Given the description of an element on the screen output the (x, y) to click on. 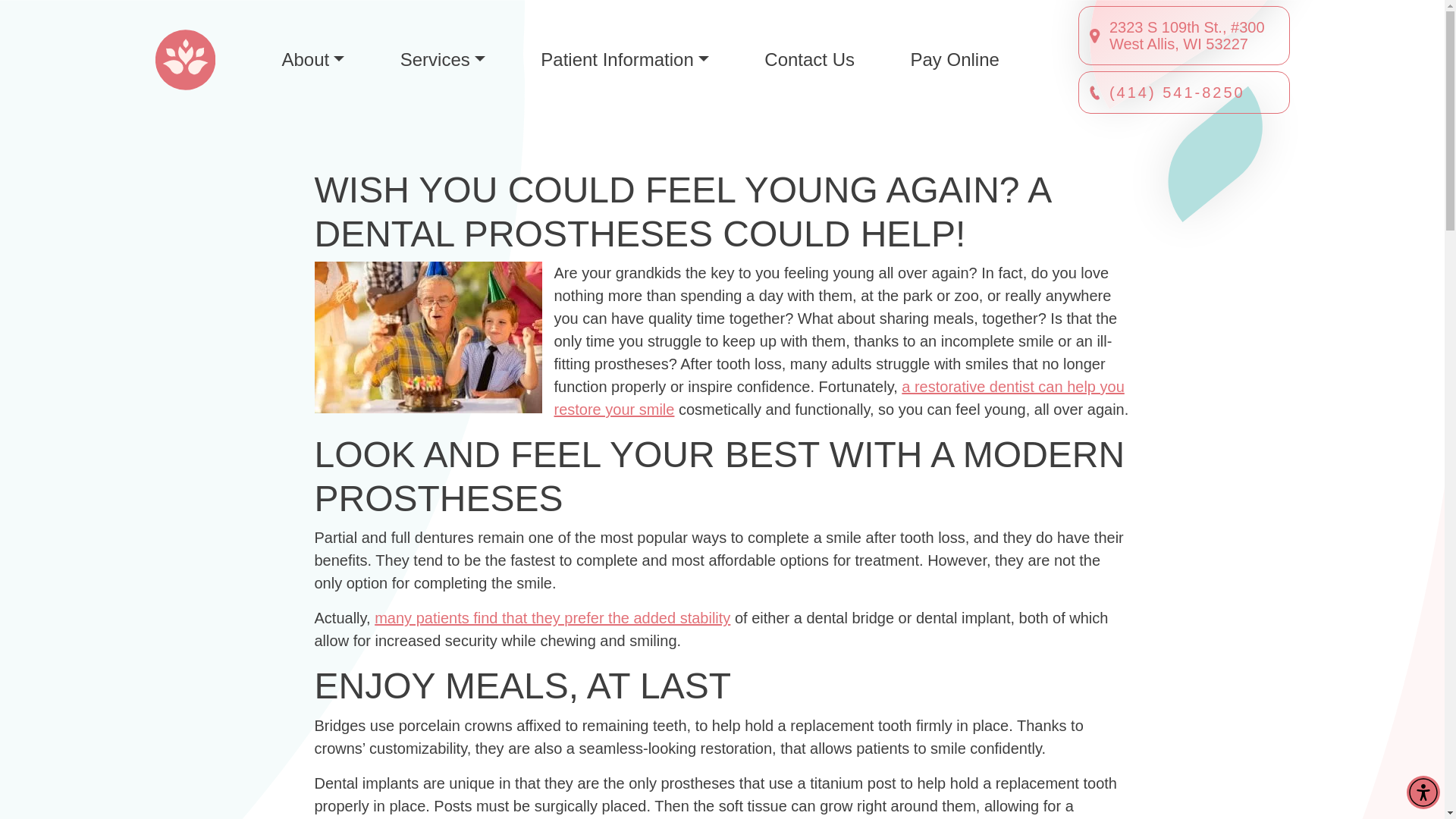
Services (443, 59)
Accessibility Menu (1422, 792)
About (313, 59)
